Given the description of an element on the screen output the (x, y) to click on. 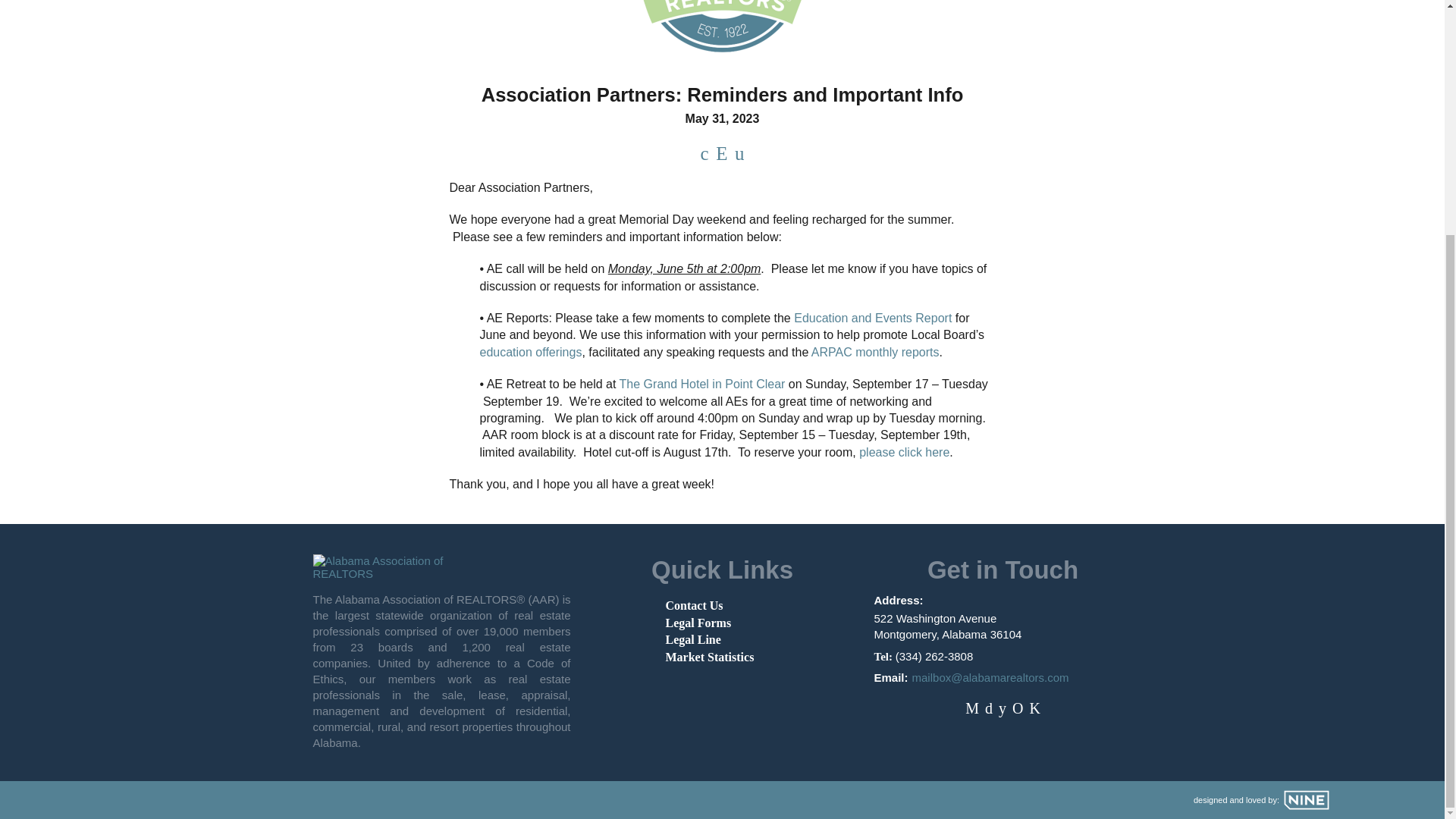
please click here (904, 451)
The Grand Hotel in Point Clear (703, 383)
Legal Line (692, 639)
Market Statistics (709, 656)
Contact Us (694, 604)
education offerings (529, 351)
Education and Events Report (872, 318)
ARPAC monthly reports (874, 351)
Legal Forms (698, 622)
